Given the description of an element on the screen output the (x, y) to click on. 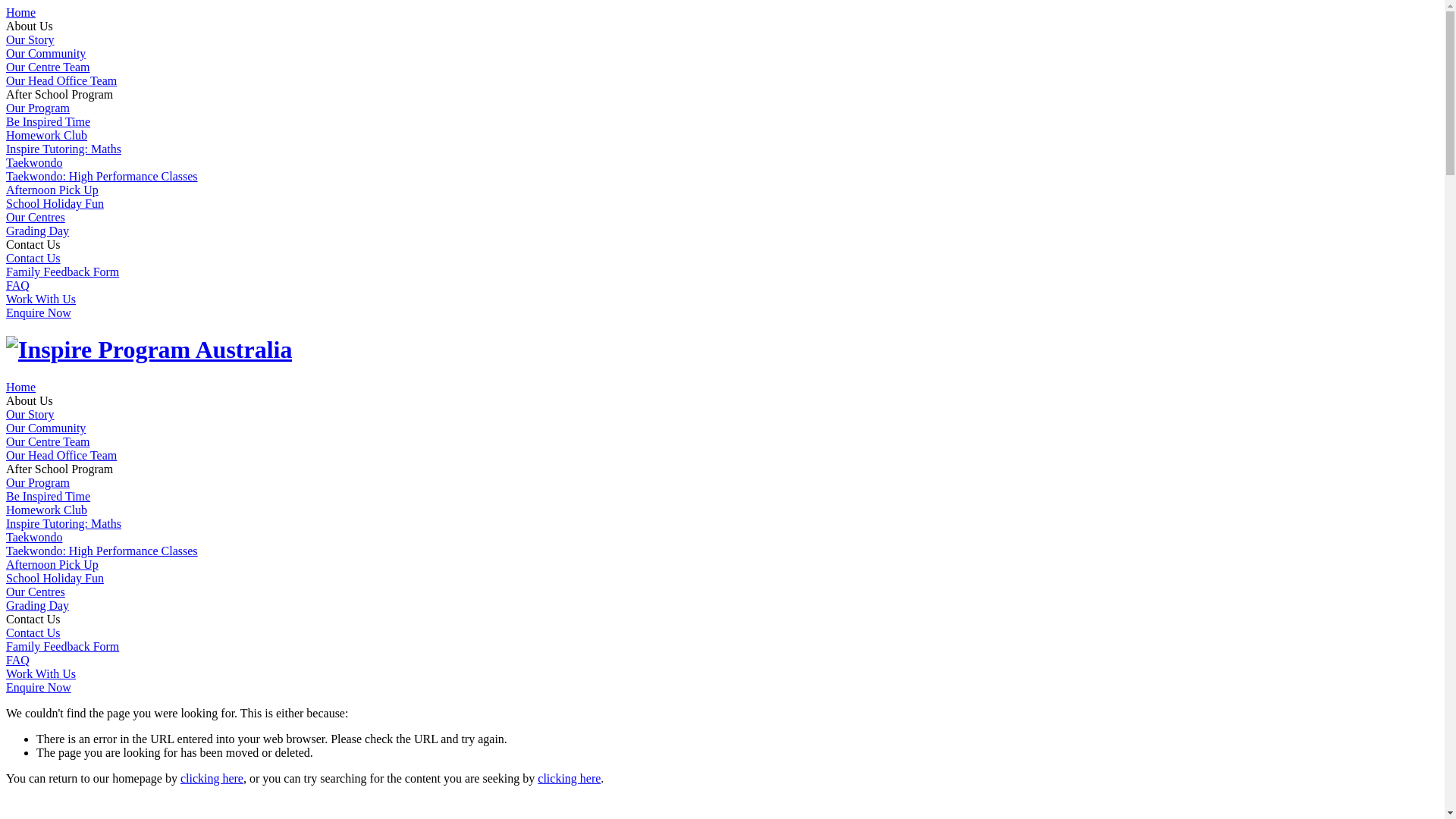
Our Program Element type: text (37, 482)
Work With Us Element type: text (40, 298)
Our Story Element type: text (30, 413)
Contact Us Element type: text (33, 632)
School Holiday Fun Element type: text (54, 203)
Afternoon Pick Up Element type: text (52, 189)
Be Inspired Time Element type: text (48, 495)
Taekwondo Element type: text (34, 162)
Family Feedback Form Element type: text (62, 271)
Taekwondo Element type: text (34, 536)
Our Centres Element type: text (35, 591)
Taekwondo: High Performance Classes Element type: text (101, 550)
clicking here Element type: text (568, 777)
Our Program Element type: text (37, 107)
Homework Club Element type: text (46, 509)
Contact Us Element type: text (33, 257)
Family Feedback Form Element type: text (62, 646)
Grading Day Element type: text (37, 605)
Our Head Office Team Element type: text (61, 80)
FAQ Element type: text (17, 285)
Our Community Element type: text (45, 53)
Home Element type: text (20, 386)
Our Centre Team Element type: text (48, 66)
Work With Us Element type: text (40, 673)
Afternoon Pick Up Element type: text (52, 564)
Inspire Tutoring: Maths Element type: text (63, 148)
Our Story Element type: text (30, 39)
Our Community Element type: text (45, 427)
Enquire Now Element type: text (38, 312)
Home Element type: text (20, 12)
School Holiday Fun Element type: text (54, 577)
Homework Club Element type: text (46, 134)
Our Head Office Team Element type: text (61, 454)
Enquire Now Element type: text (38, 686)
clicking here Element type: text (211, 777)
Our Centres Element type: text (35, 216)
Our Centre Team Element type: text (48, 441)
Be Inspired Time Element type: text (48, 121)
Inspire Tutoring: Maths Element type: text (63, 523)
FAQ Element type: text (17, 659)
Taekwondo: High Performance Classes Element type: text (101, 175)
Grading Day Element type: text (37, 230)
